Given the description of an element on the screen output the (x, y) to click on. 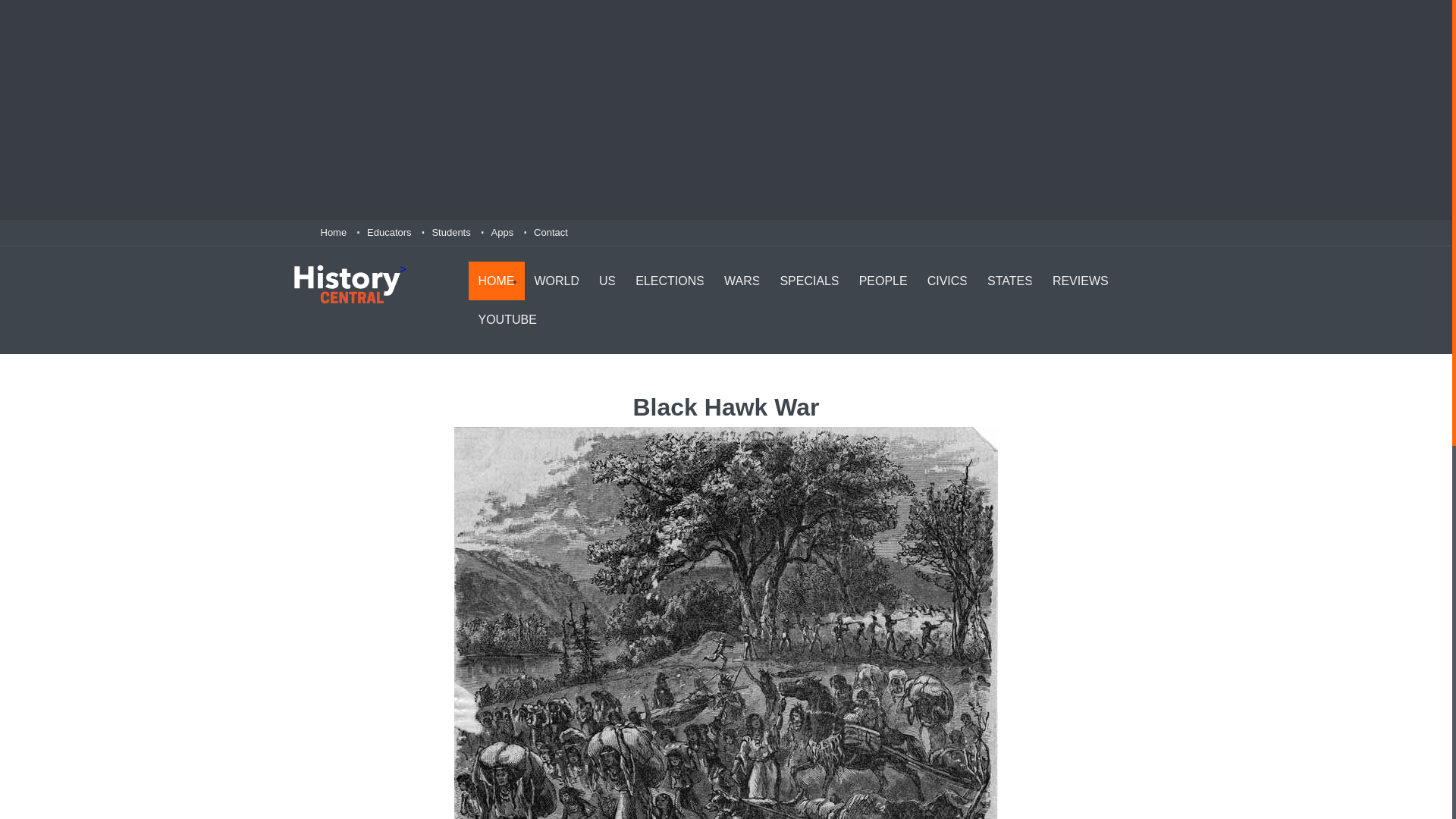
Educators (389, 232)
HOME (496, 280)
ELECTIONS (670, 280)
WARS (742, 280)
Home (333, 232)
WORLD (556, 280)
Contact (550, 232)
US (607, 280)
Students (450, 232)
Apps (502, 232)
